Given the description of an element on the screen output the (x, y) to click on. 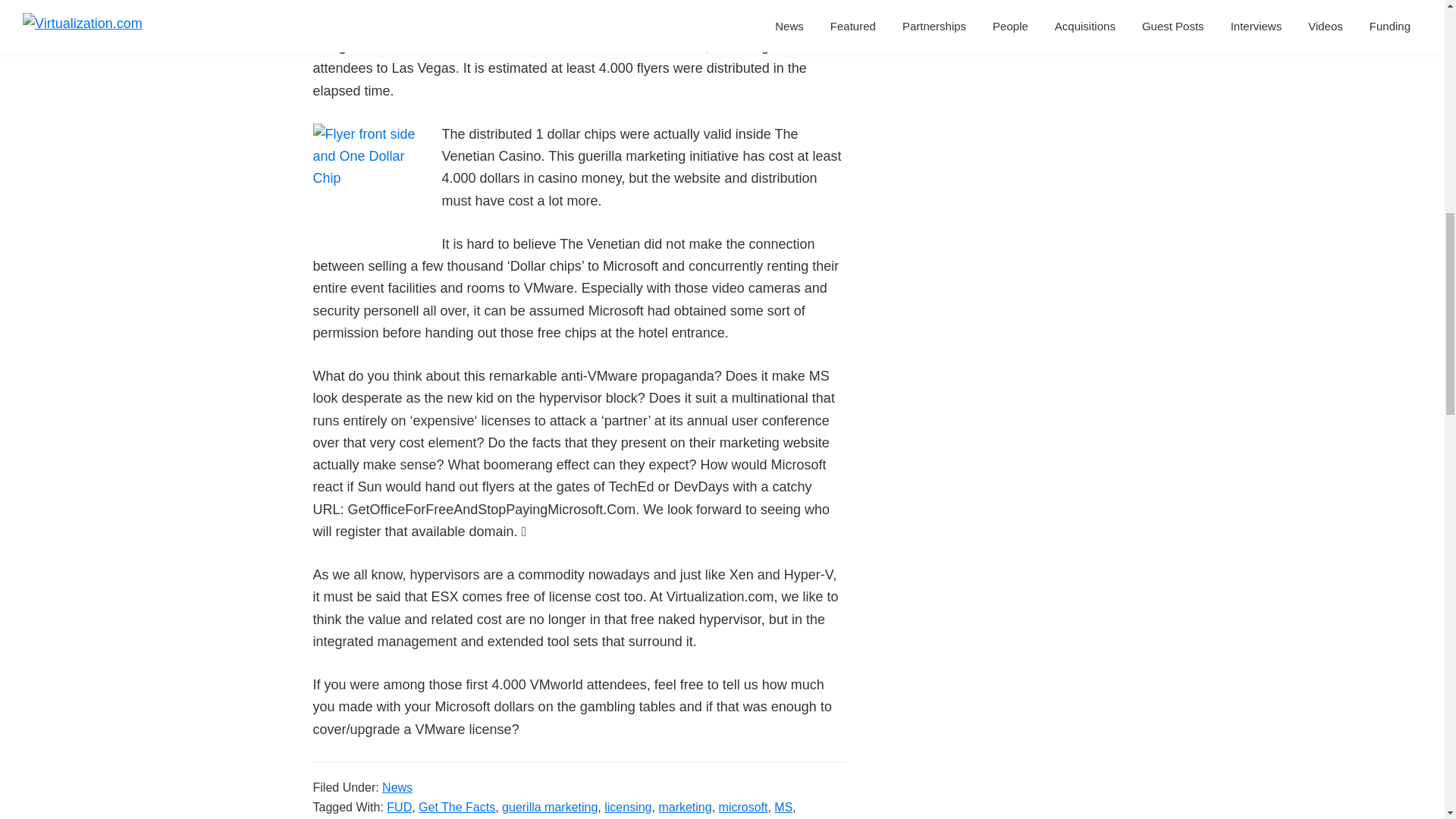
News (396, 787)
FUD (399, 807)
MS (783, 807)
guerilla marketing (549, 807)
Get The Facts (457, 807)
licensing (627, 807)
ms-vmwaresmearfront (369, 180)
microsoft (743, 807)
marketing (684, 807)
